Given the description of an element on the screen output the (x, y) to click on. 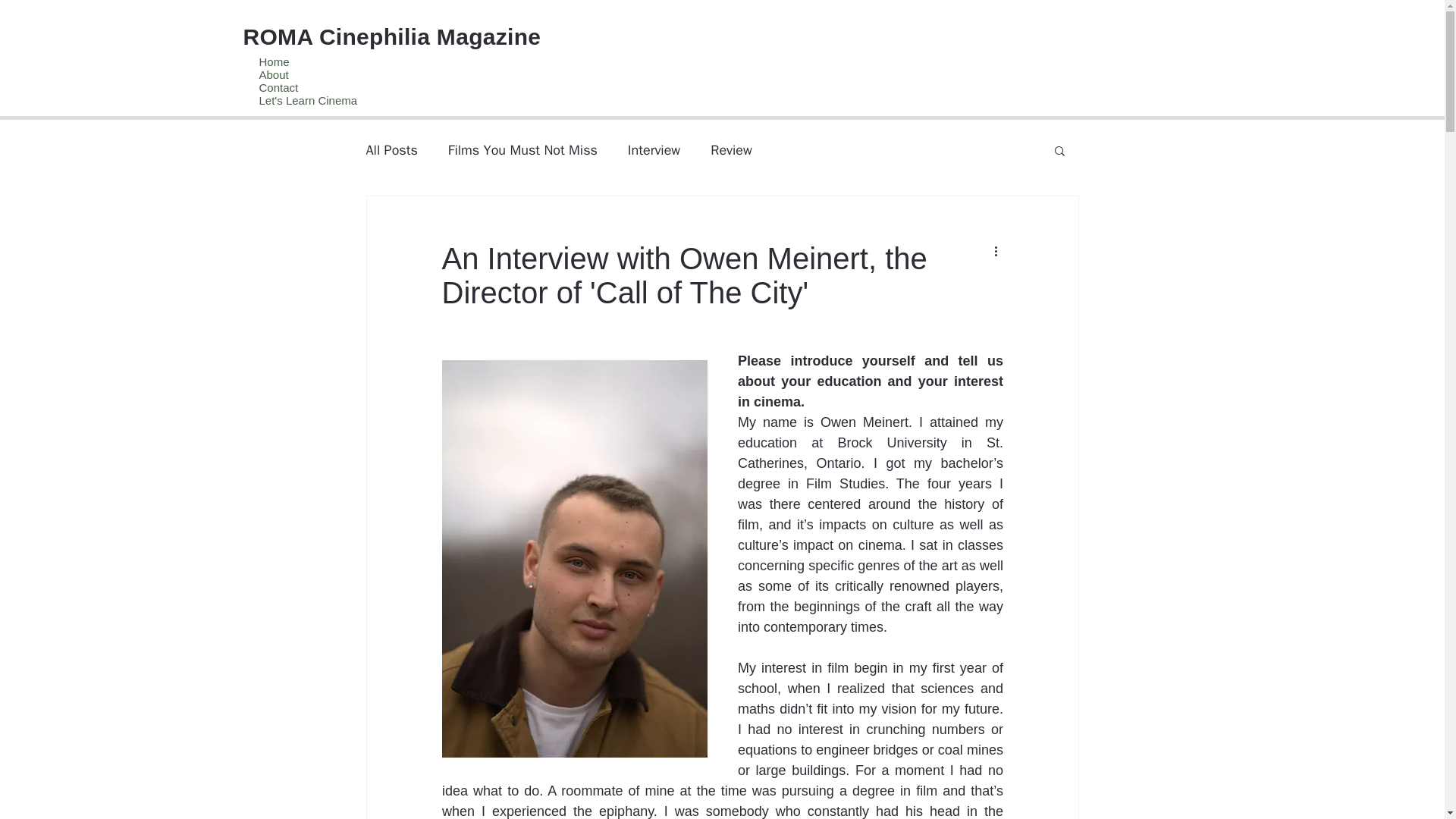
Let's Learn Cinema (391, 100)
About (391, 74)
Films You Must Not Miss (522, 149)
All Posts (390, 149)
Contact (391, 87)
Review (731, 149)
Home (391, 61)
Interview (653, 149)
ROMA Cinephilia Magazine (391, 36)
